Given the description of an element on the screen output the (x, y) to click on. 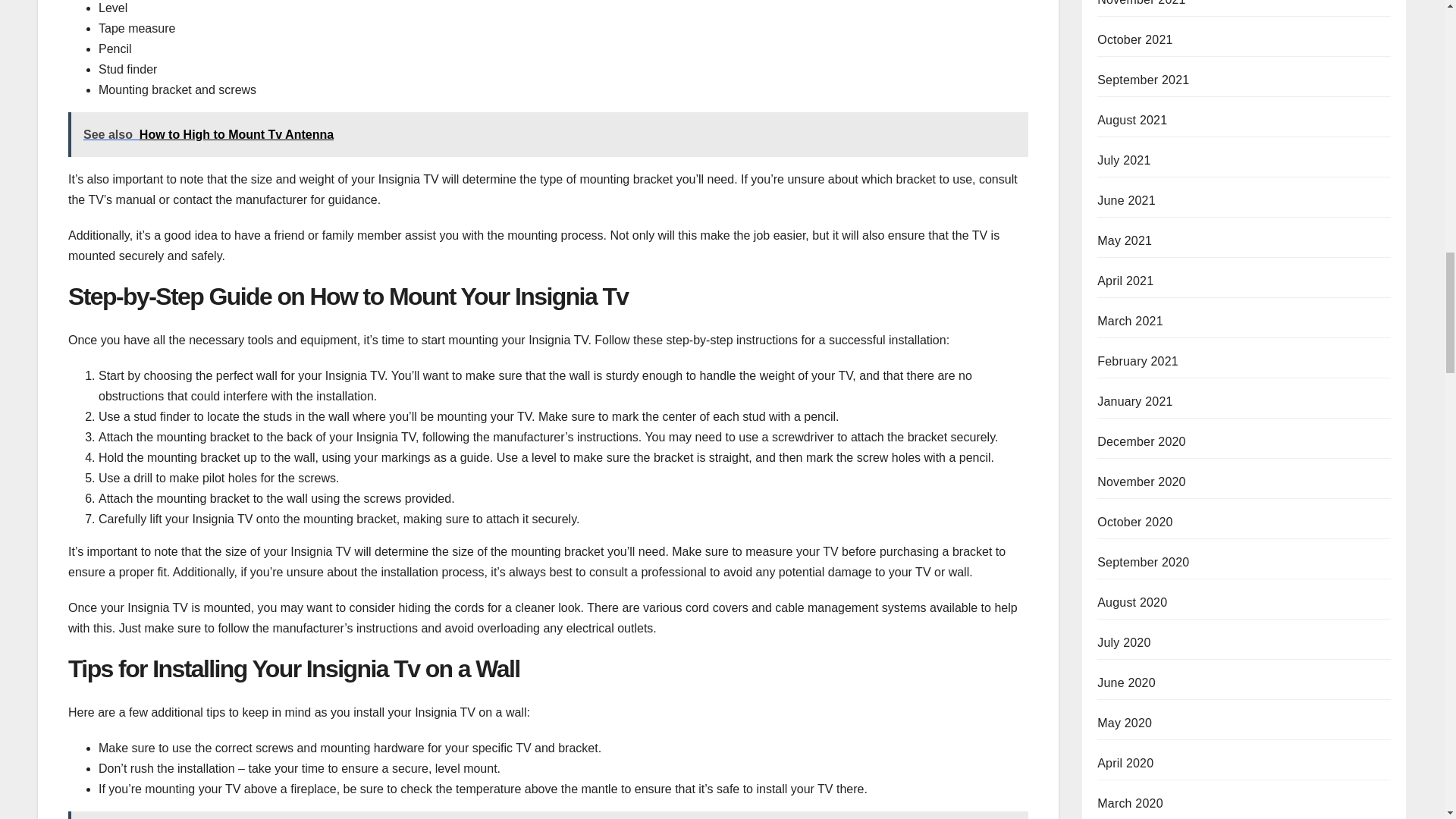
See also  How to High to Mount Tv Antenna (547, 134)
